Given the description of an element on the screen output the (x, y) to click on. 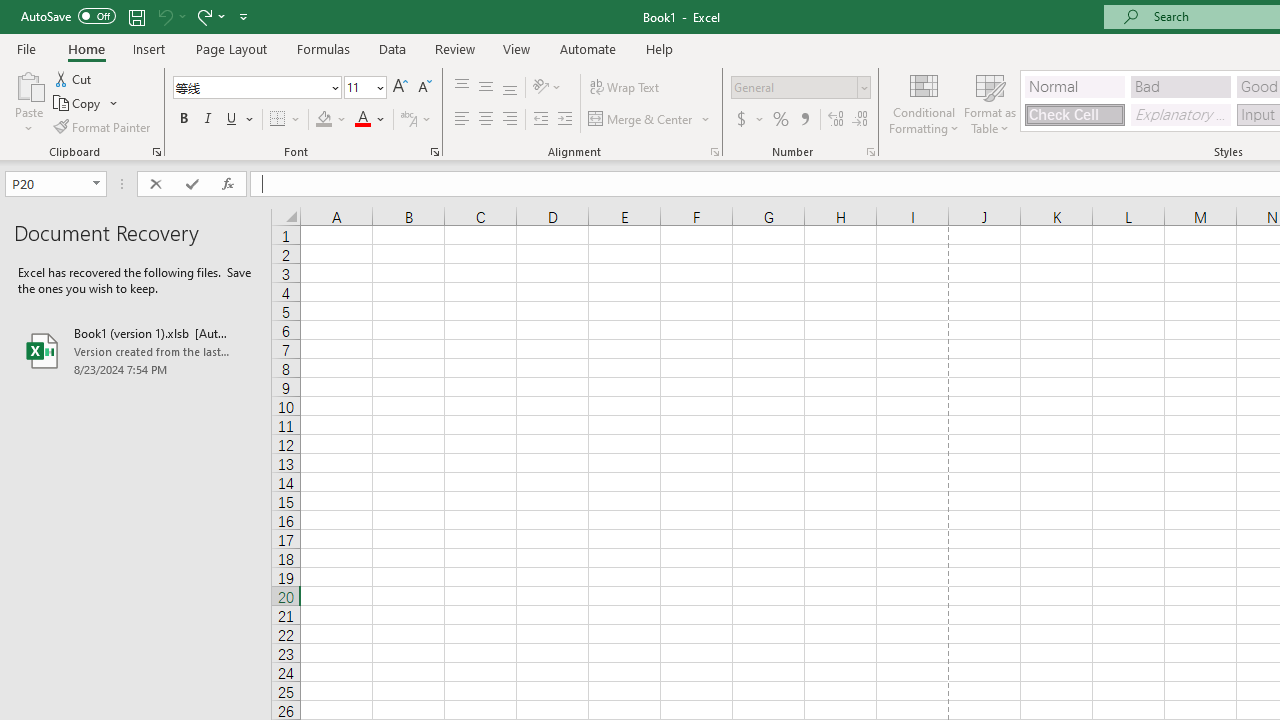
Wrap Text (624, 87)
Data (392, 48)
Format Cell Number (870, 151)
Open (96, 183)
Center (485, 119)
Decrease Decimal (859, 119)
Middle Align (485, 87)
Paste (28, 102)
Show Phonetic Field (408, 119)
Insert (149, 48)
Font Color RGB(255, 0, 0) (362, 119)
Bold (183, 119)
Format Cell Font (434, 151)
